Given the description of an element on the screen output the (x, y) to click on. 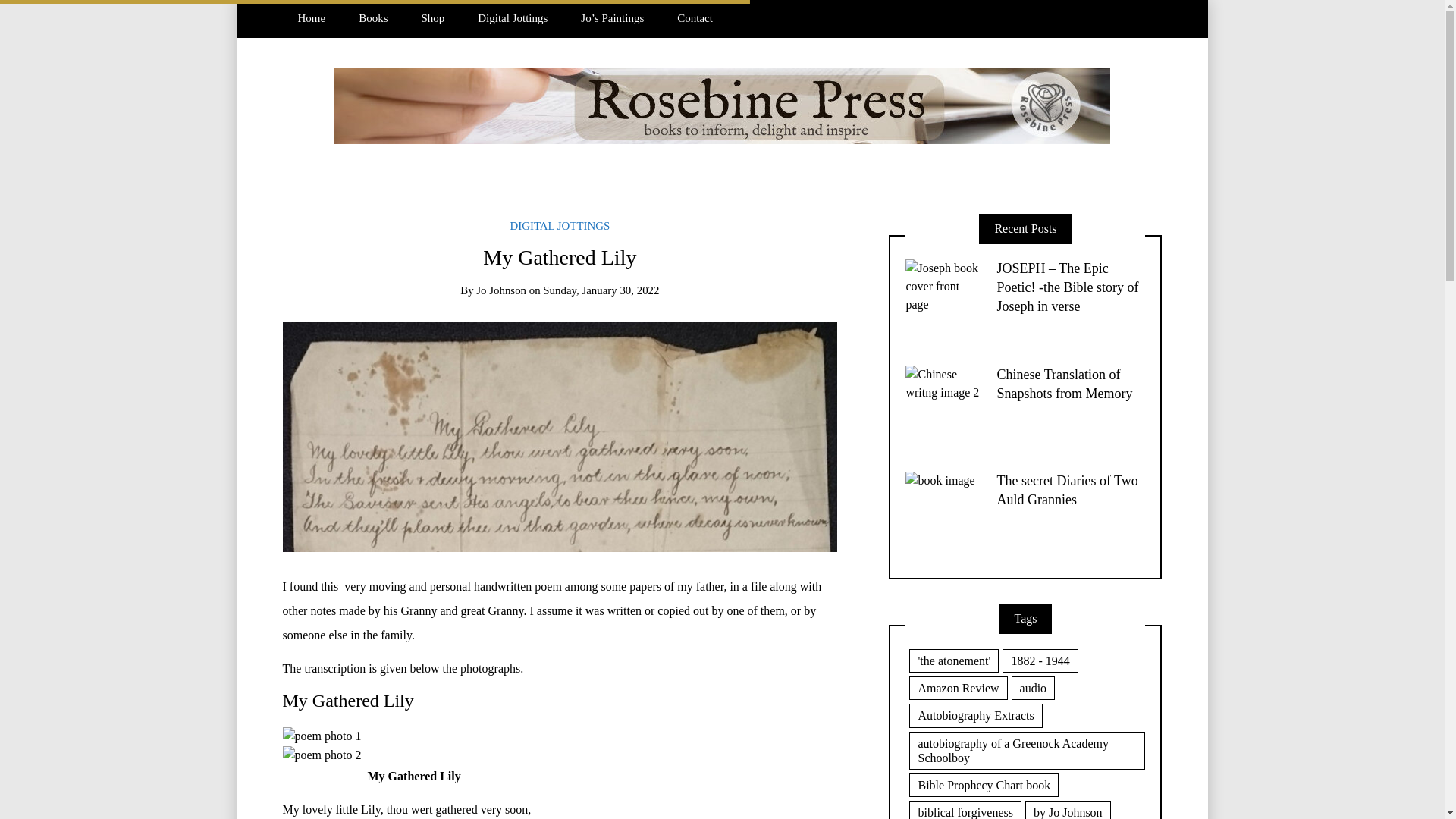
DIGITAL JOTTINGS (559, 225)
Chinese Translation of Snapshots from Memory (1063, 383)
The secret Diaries of Two Auld Grannies (1066, 489)
Permalink to The secret Diaries of Two Auld Grannies (1066, 489)
Sunday, January 30, 2022 (601, 290)
Digital Jottings (512, 18)
Posts by Jo Johnson (500, 290)
Home (311, 18)
Jo Johnson (500, 290)
Permalink to: "Chinese Translation of Snapshots from Memory" (943, 401)
